Given the description of an element on the screen output the (x, y) to click on. 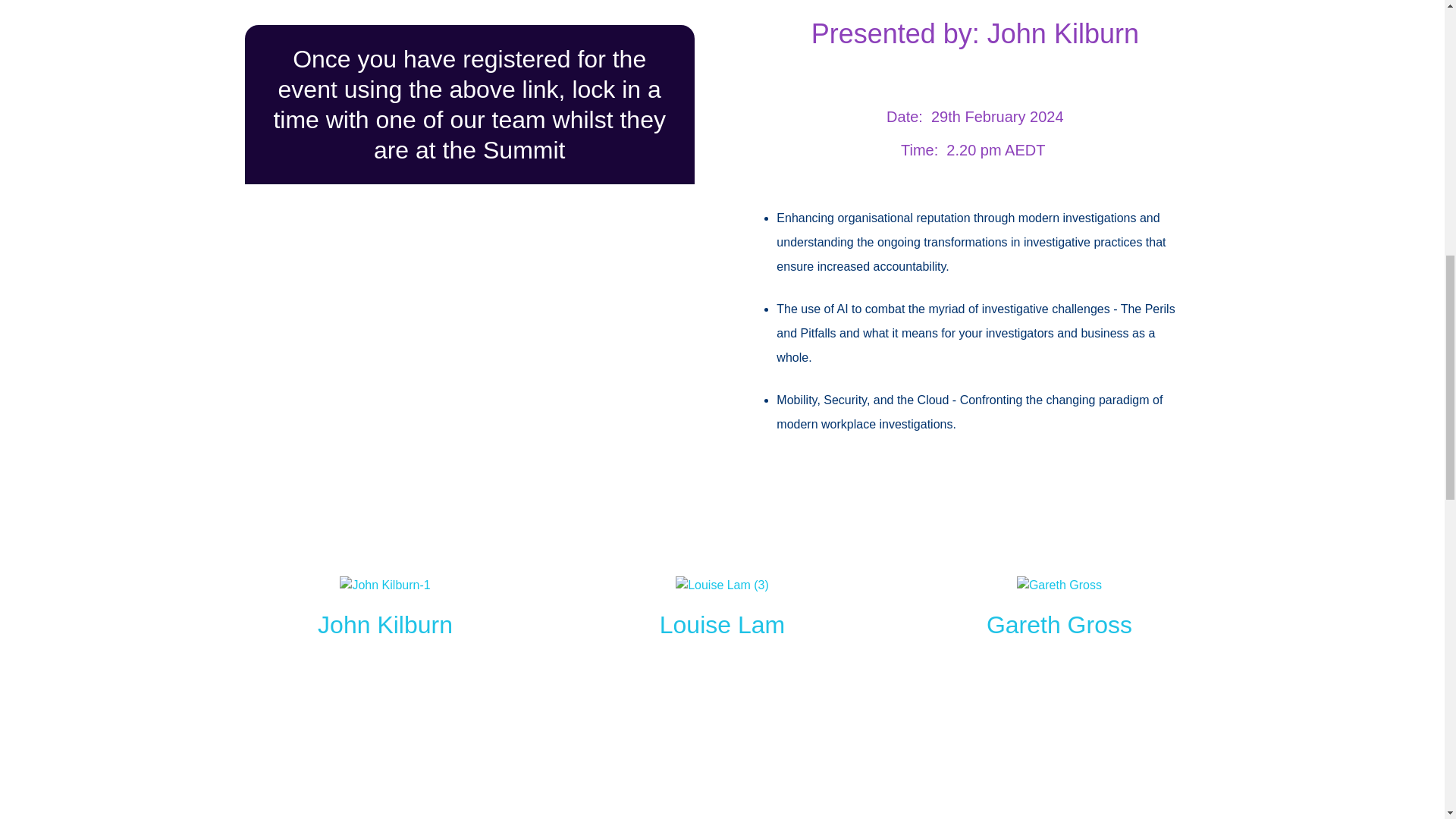
John Kilburn (384, 624)
Gareth Gross (1059, 585)
Gareth Gross (1059, 624)
John Kilburn-1 (384, 585)
Louise Lam (721, 624)
